Given the description of an element on the screen output the (x, y) to click on. 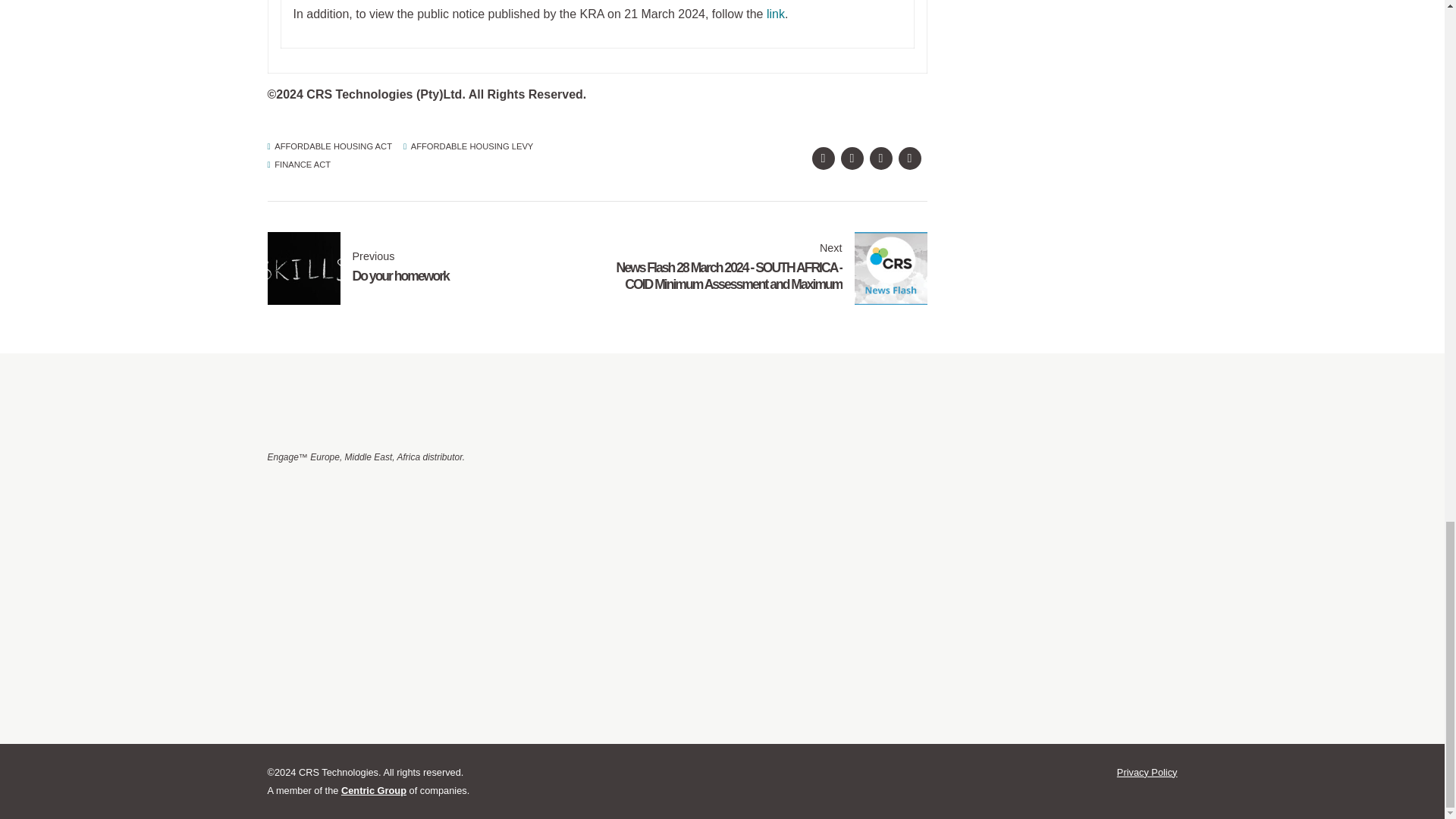
Share on Facebook (822, 158)
Share on Twitter (851, 158)
Share on Linkedin (880, 158)
Share on WhatsApp (909, 158)
